Given the description of an element on the screen output the (x, y) to click on. 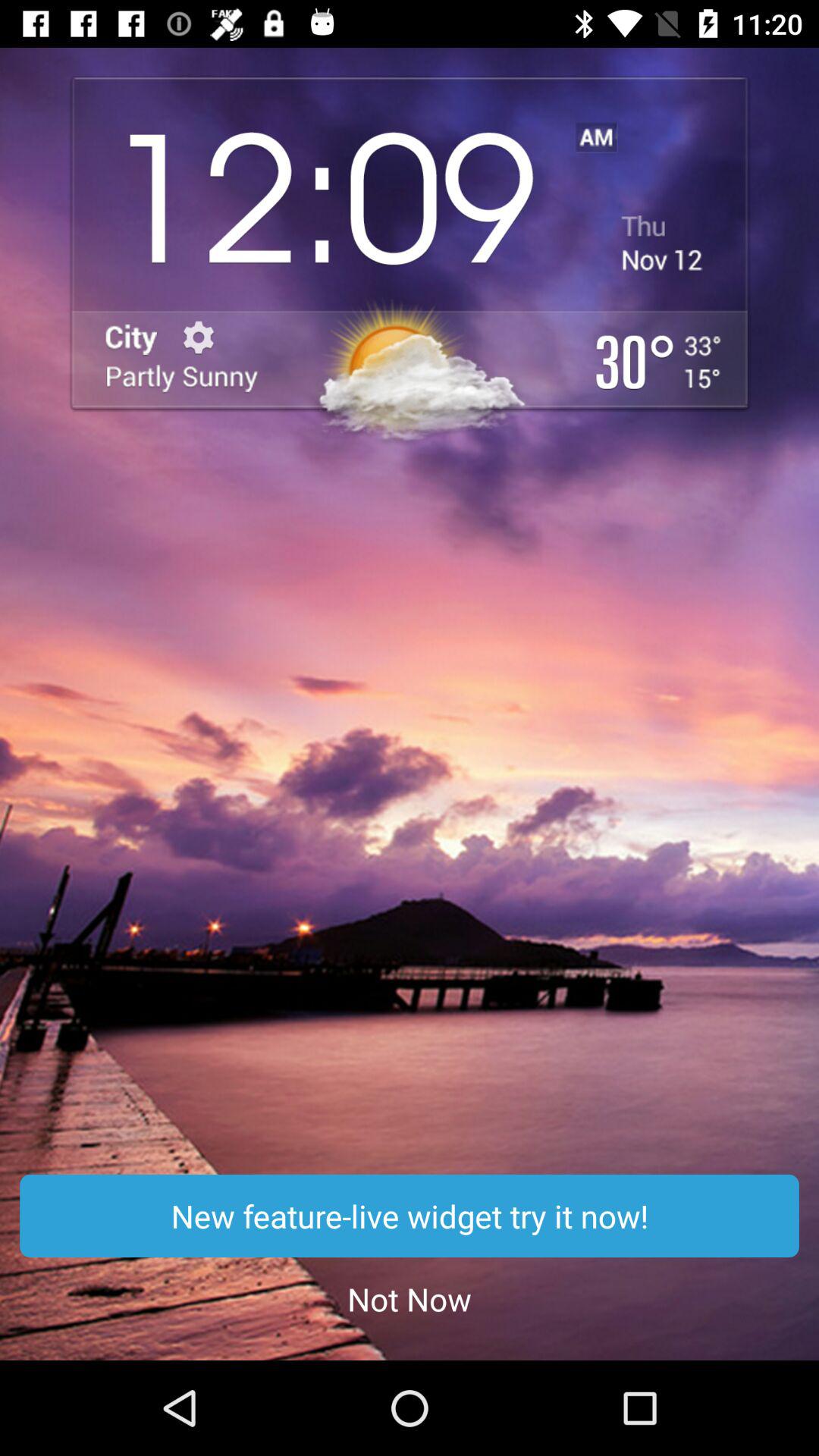
turn on the icon below new feature live (409, 1298)
